Given the description of an element on the screen output the (x, y) to click on. 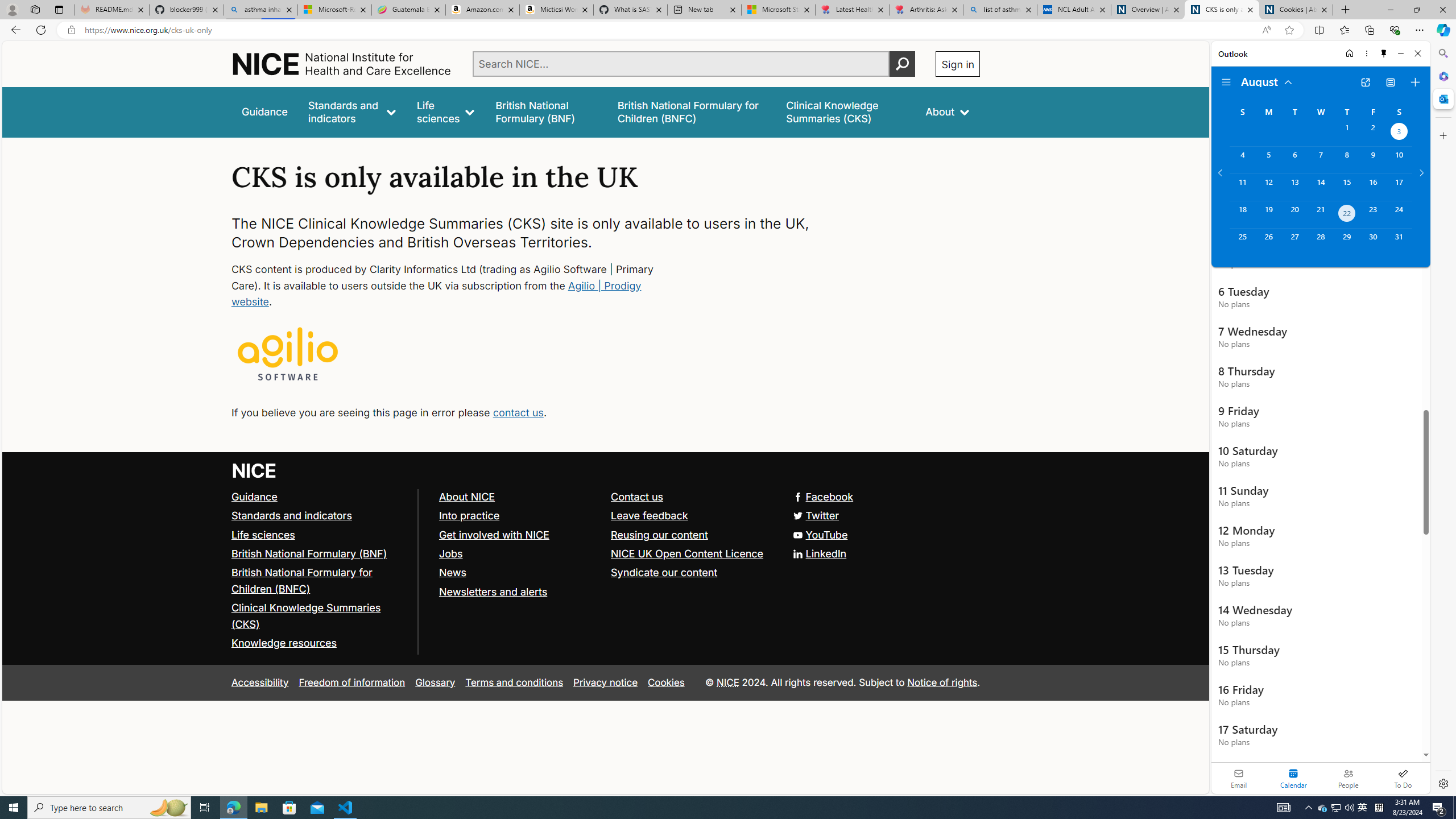
Cookies (665, 682)
Tuesday, August 20, 2024.  (1294, 214)
Life sciences (319, 534)
Tuesday, August 13, 2024.  (1294, 186)
Selected calendar module. Date today is 22 (1293, 777)
LinkedIn (820, 553)
Life sciences (446, 111)
About (947, 111)
NICE UK Open Content Licence (692, 553)
British National Formulary for Children (BNFC) (301, 579)
